Given the description of an element on the screen output the (x, y) to click on. 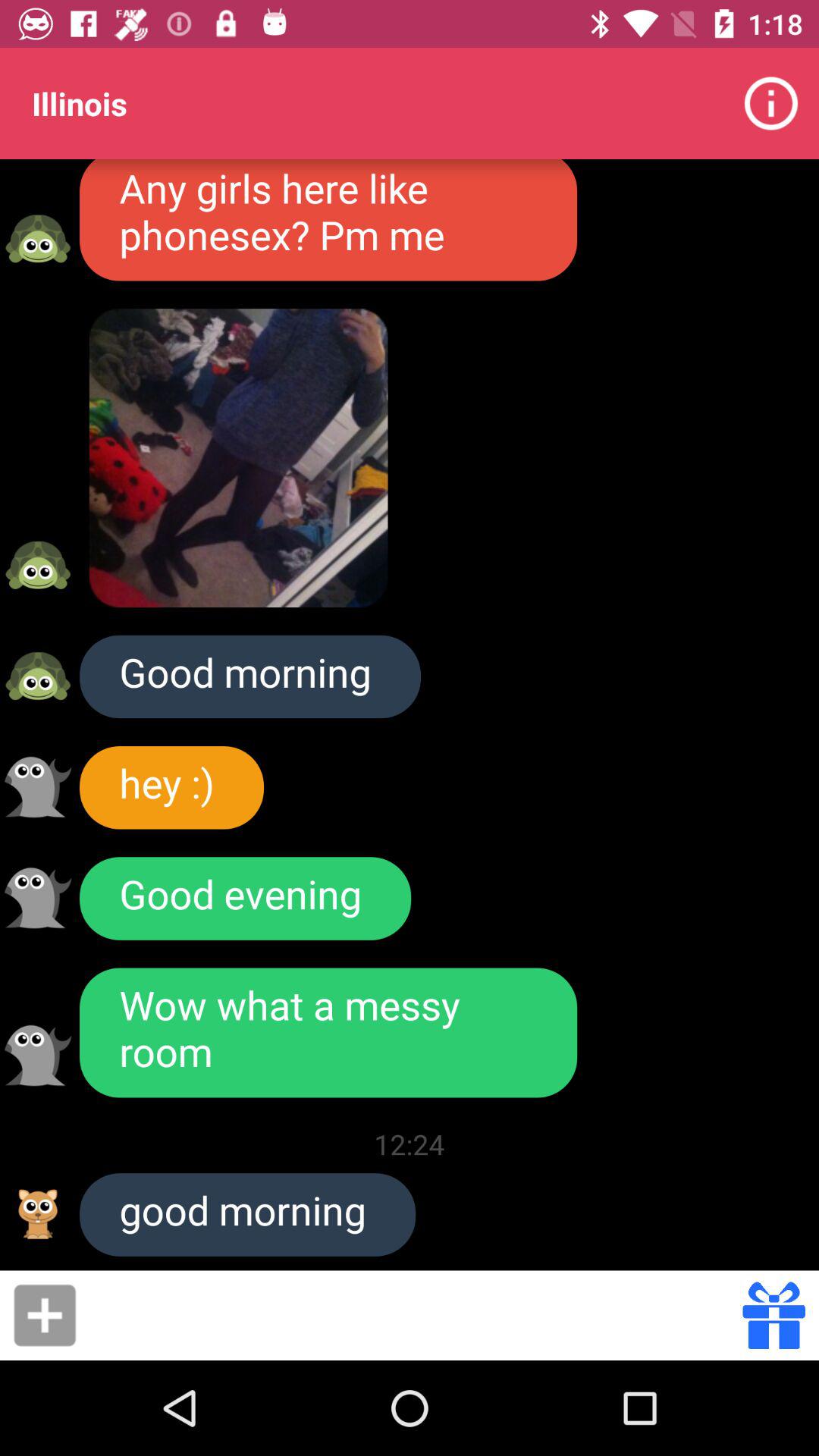
view the profile picture (38, 897)
